Given the description of an element on the screen output the (x, y) to click on. 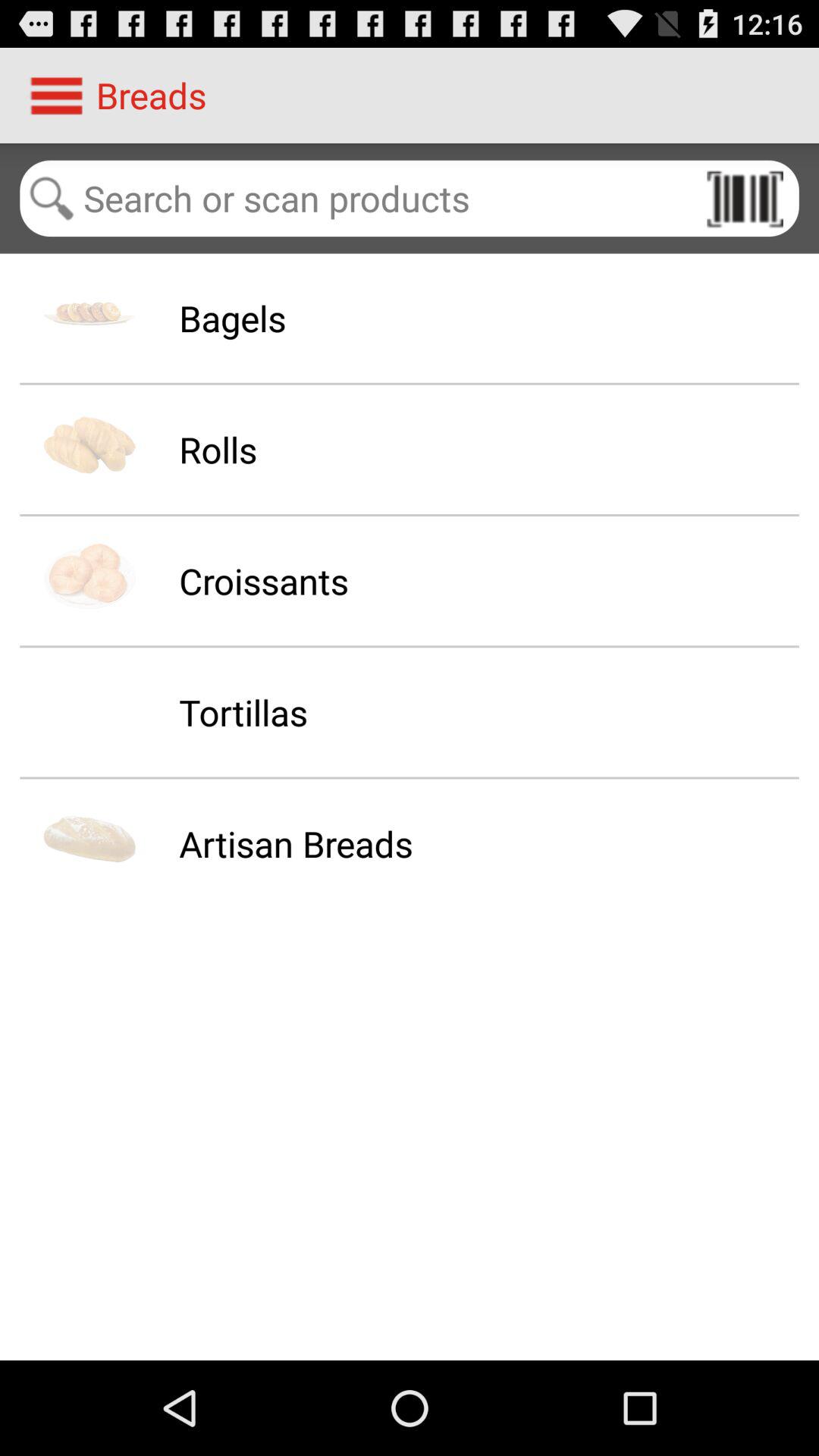
launch the item below the croissants item (243, 712)
